Given the description of an element on the screen output the (x, y) to click on. 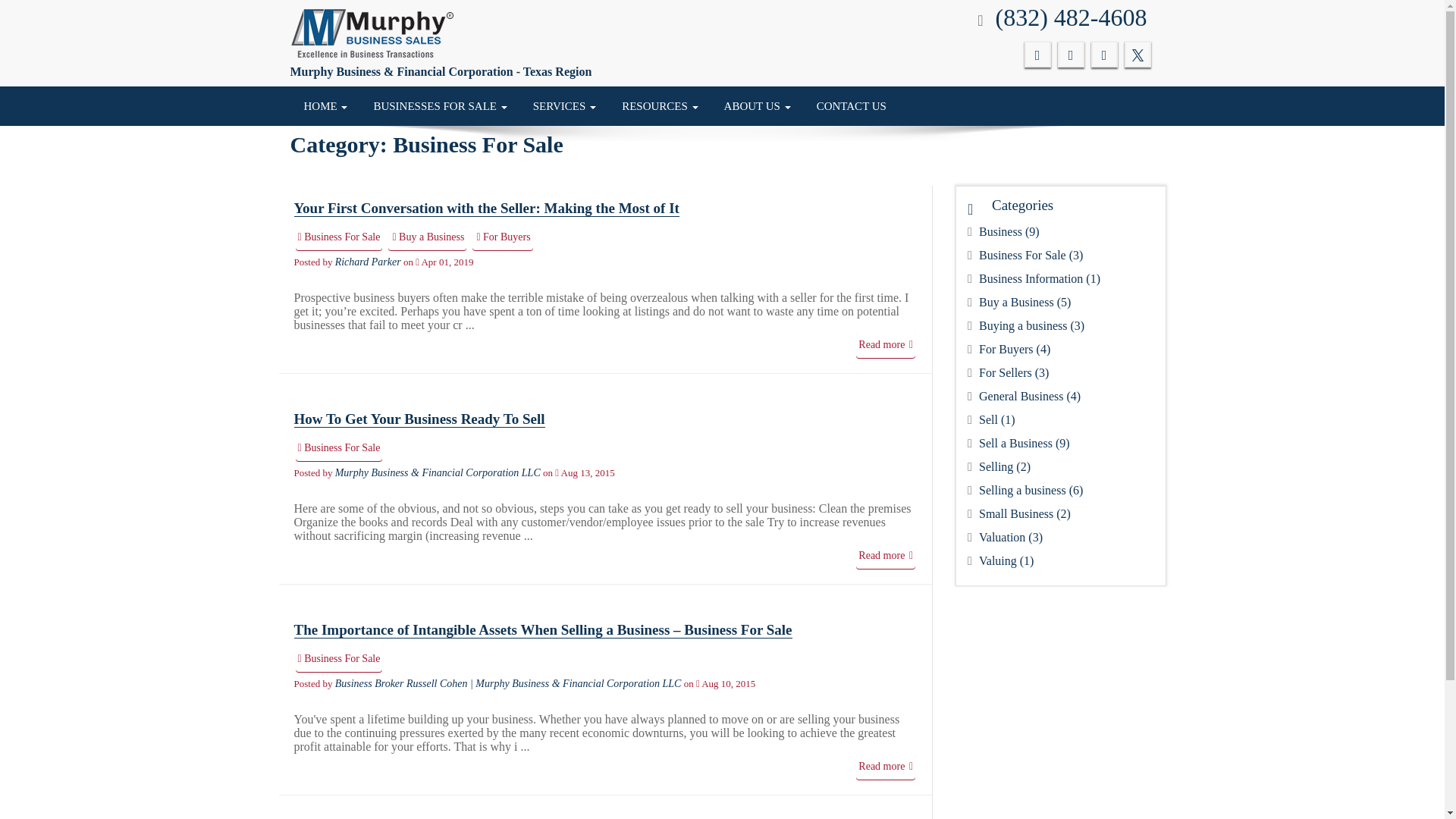
CONTACT US (851, 105)
Business For Sale (338, 447)
ABOUT US (757, 105)
Logo (370, 32)
Business For Sale (338, 658)
RESOURCES (659, 105)
BUSINESSES FOR SALE (440, 105)
Buy a Business (426, 237)
SERVICES (564, 105)
Read more (885, 555)
HOME (325, 105)
Read more (885, 766)
For Buyers (501, 237)
Services (564, 105)
